Given the description of an element on the screen output the (x, y) to click on. 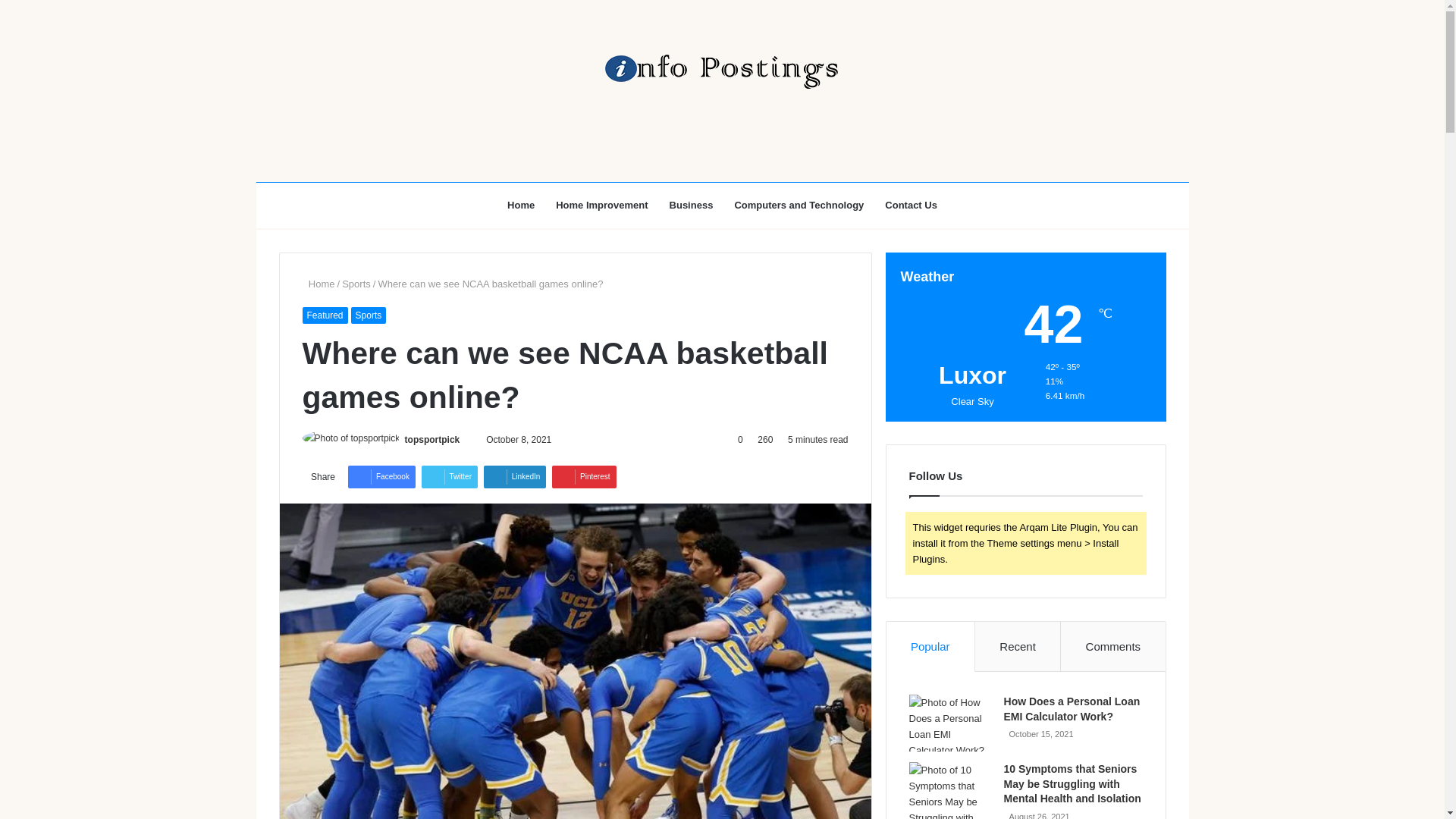
Twitter (449, 477)
LinkedIn (515, 477)
Sports (368, 315)
Facebook (380, 477)
Twitter (449, 477)
Sports (356, 283)
topsportpick (432, 439)
Home (317, 283)
LinkedIn (515, 477)
Info Postings (721, 71)
